Given the description of an element on the screen output the (x, y) to click on. 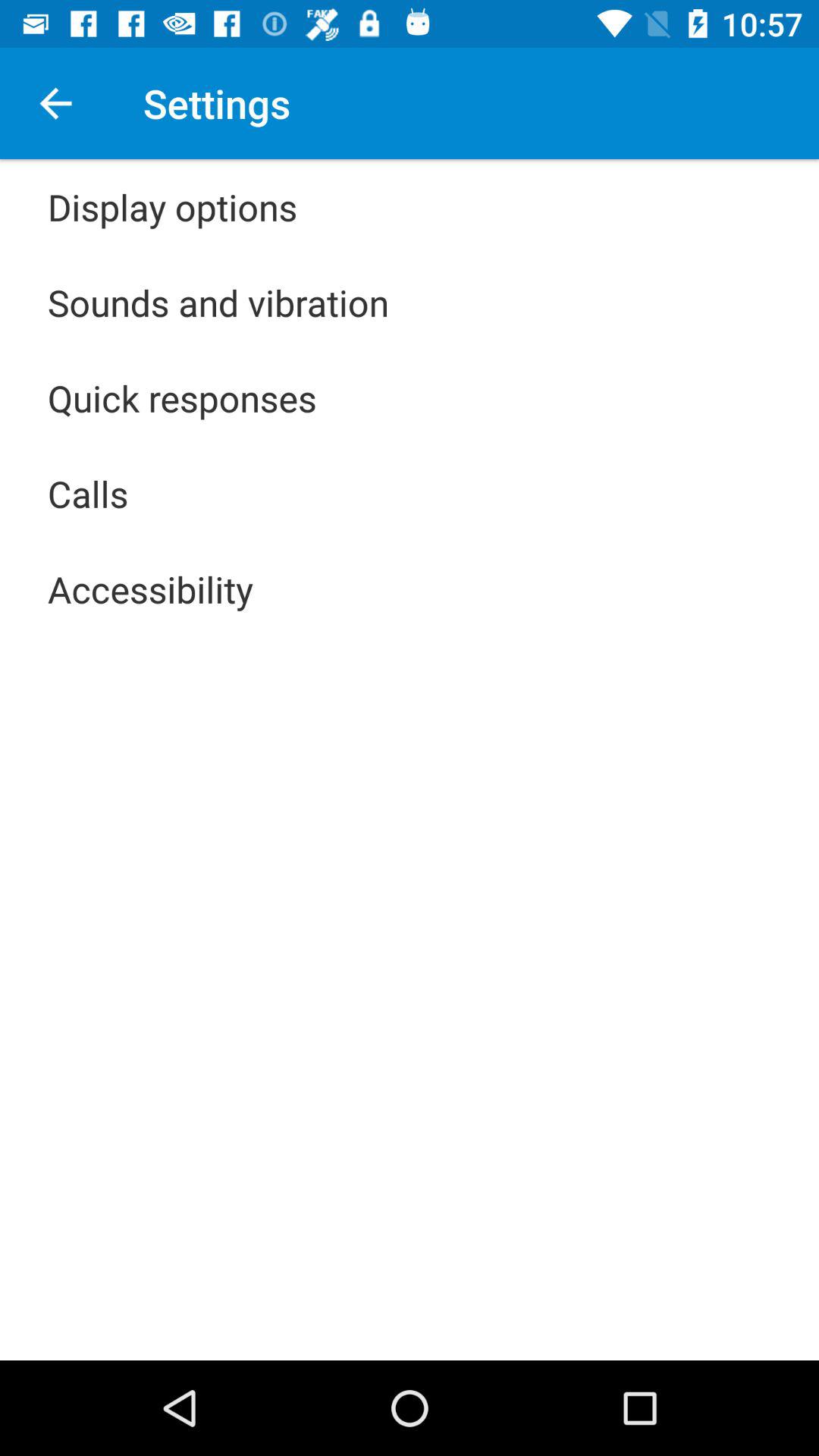
flip until display options app (172, 206)
